Given the description of an element on the screen output the (x, y) to click on. 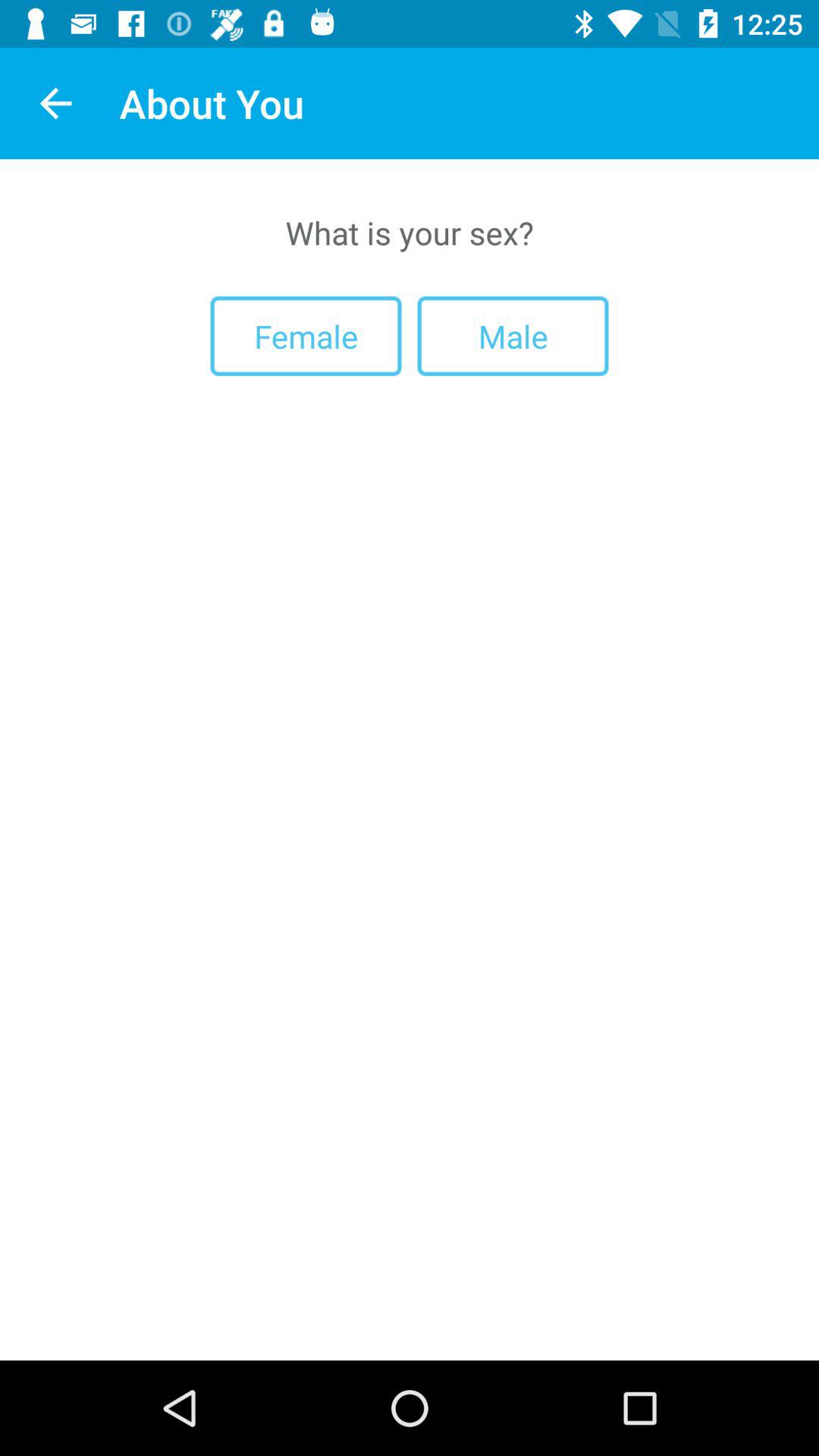
jump to male (512, 335)
